Given the description of an element on the screen output the (x, y) to click on. 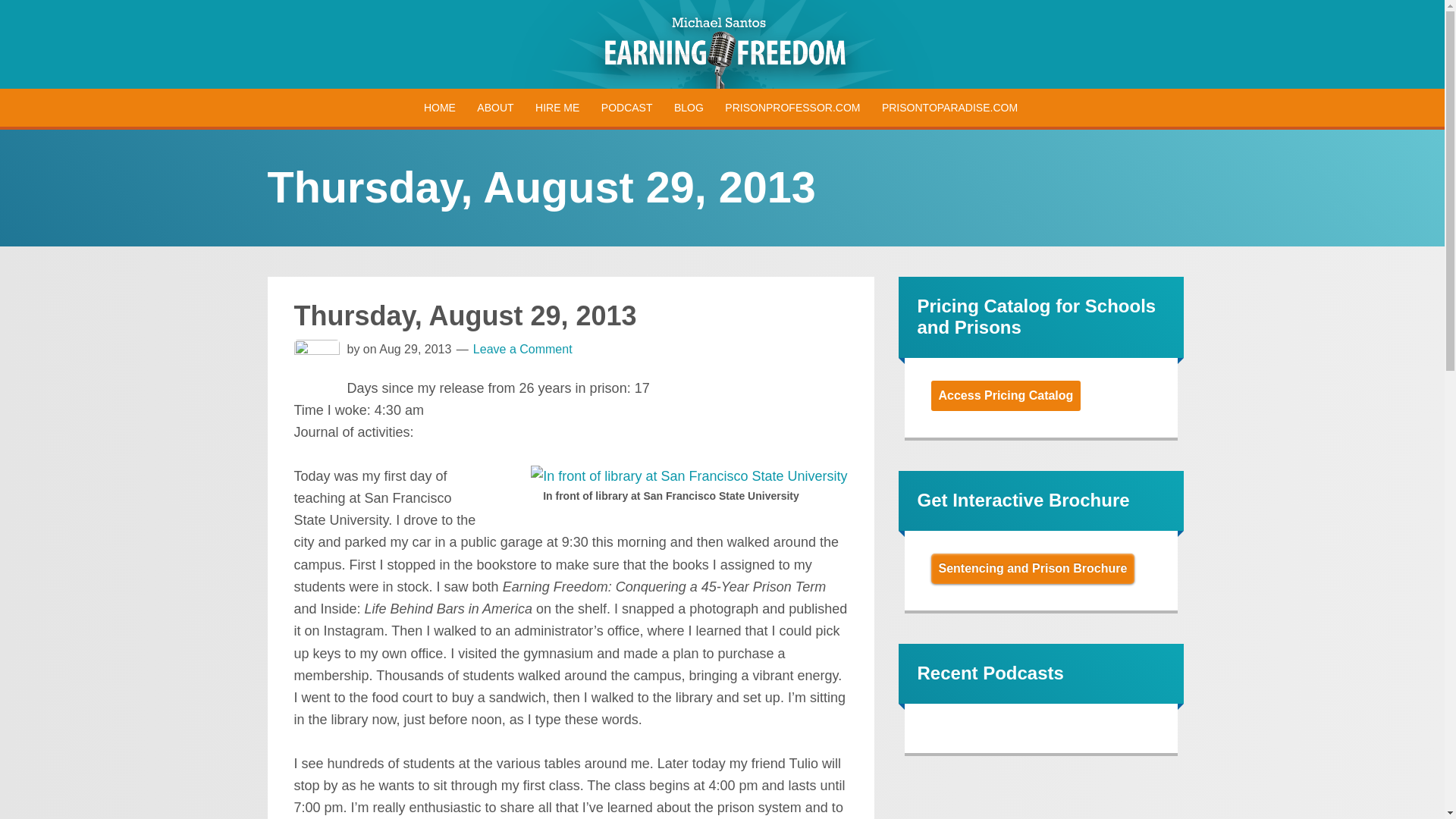
Library photo (689, 476)
HIRE ME (556, 107)
PRISONPROFESSOR.COM (792, 107)
Sentencing and Prison Brochure (1033, 568)
HOME (439, 107)
Access Pricing Catalog (1006, 395)
PODCAST (627, 107)
BLOG (688, 107)
PRISONTOPARADISE.COM (948, 107)
